Given the description of an element on the screen output the (x, y) to click on. 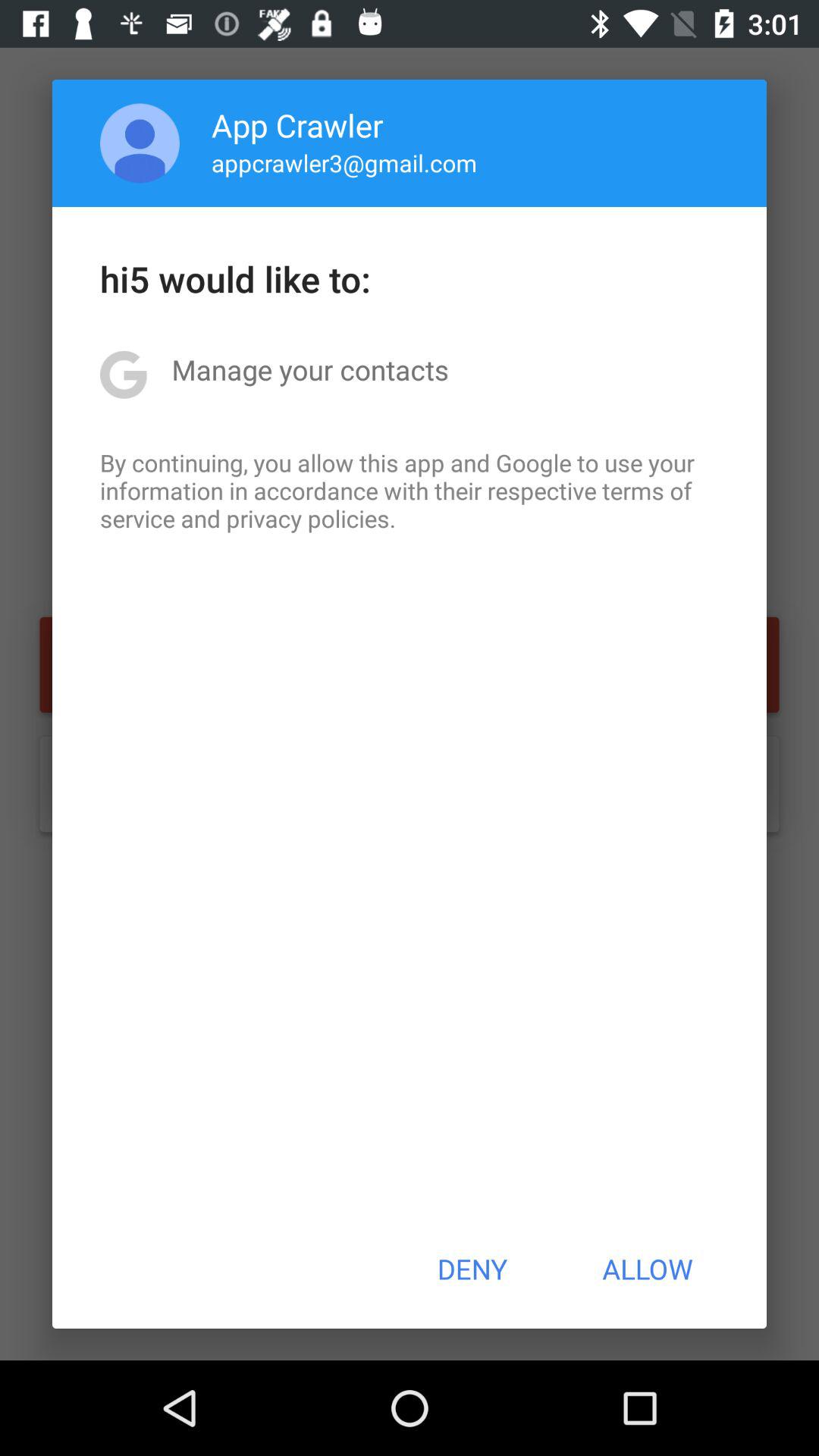
select the item above hi5 would like item (344, 162)
